Given the description of an element on the screen output the (x, y) to click on. 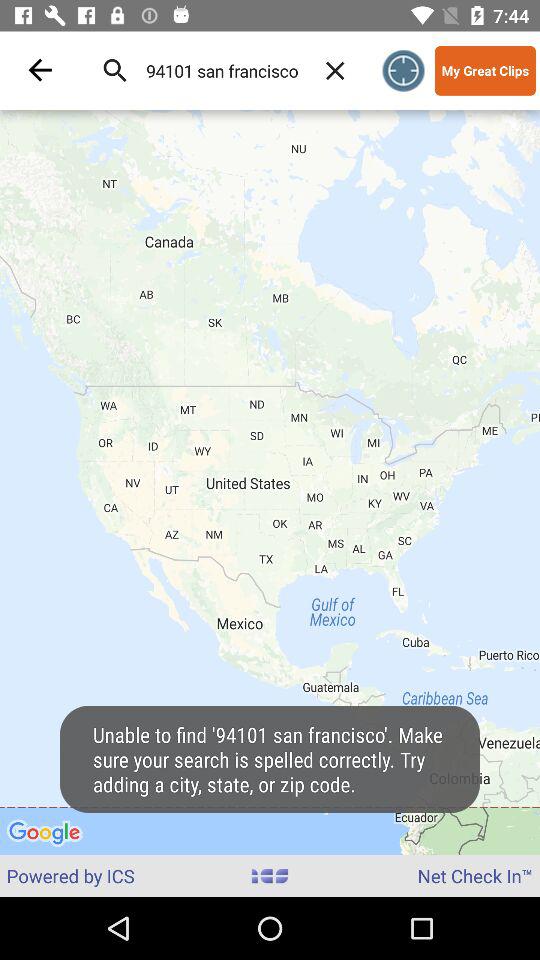
scroll to the my great clips item (485, 70)
